Given the description of an element on the screen output the (x, y) to click on. 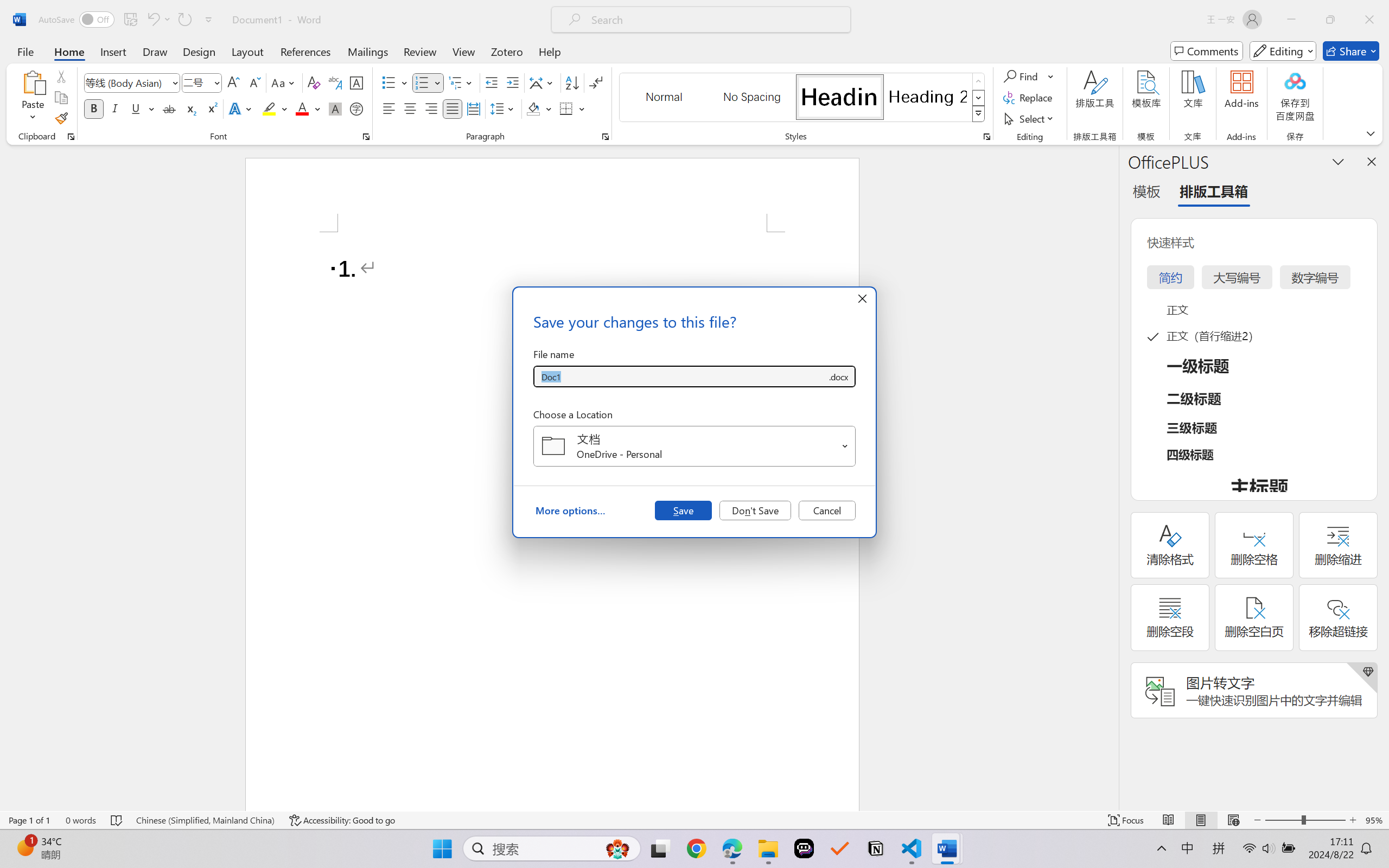
Google Chrome (696, 848)
AutomationID: QuickStylesGallery (802, 97)
Choose a Location (694, 446)
